Given the description of an element on the screen output the (x, y) to click on. 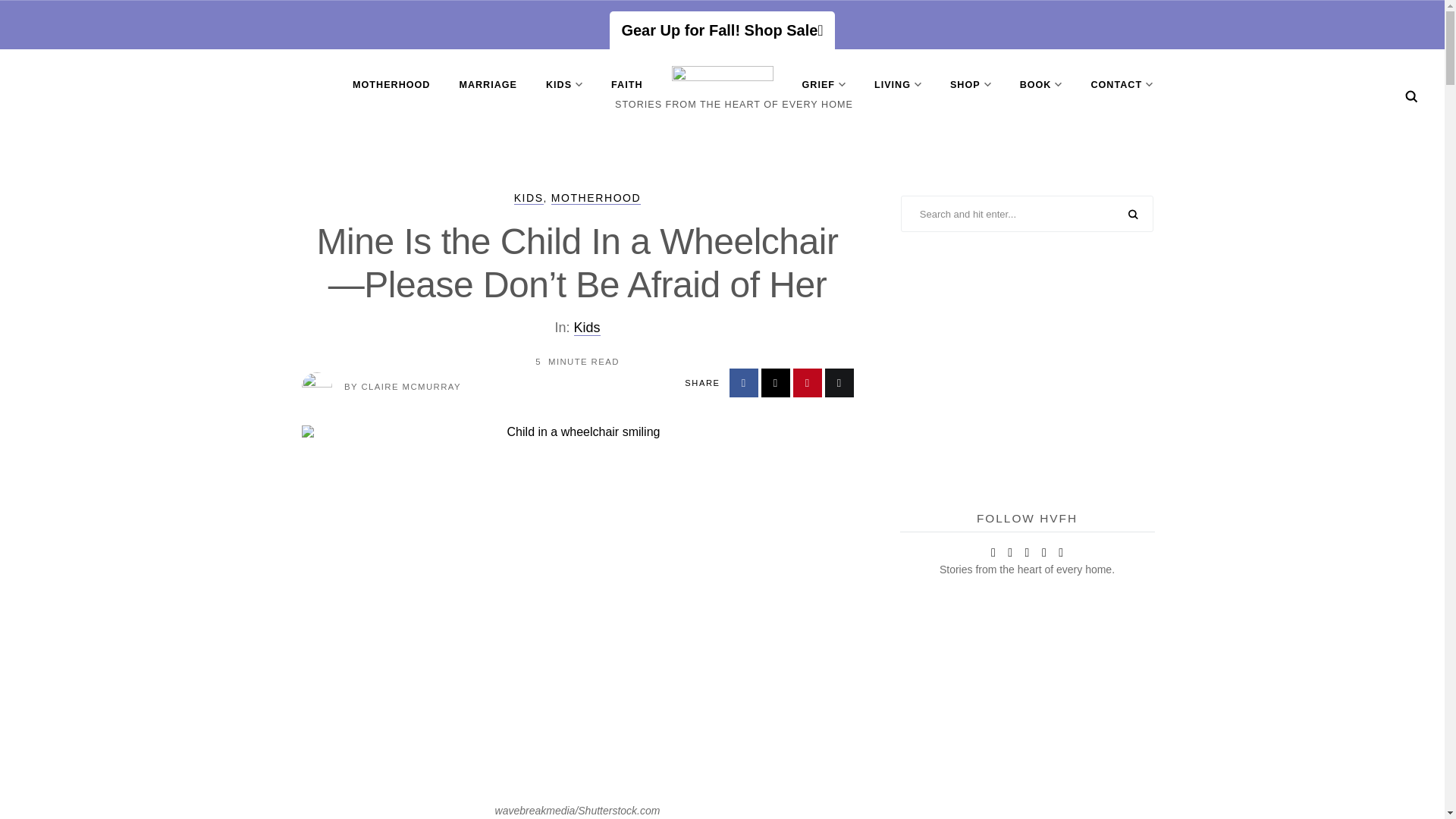
SEARCH (1133, 214)
Share on Facebook (743, 382)
Share on X (775, 382)
Share on Pinterest (807, 382)
Share by Email (839, 382)
Search (1411, 96)
